Given the description of an element on the screen output the (x, y) to click on. 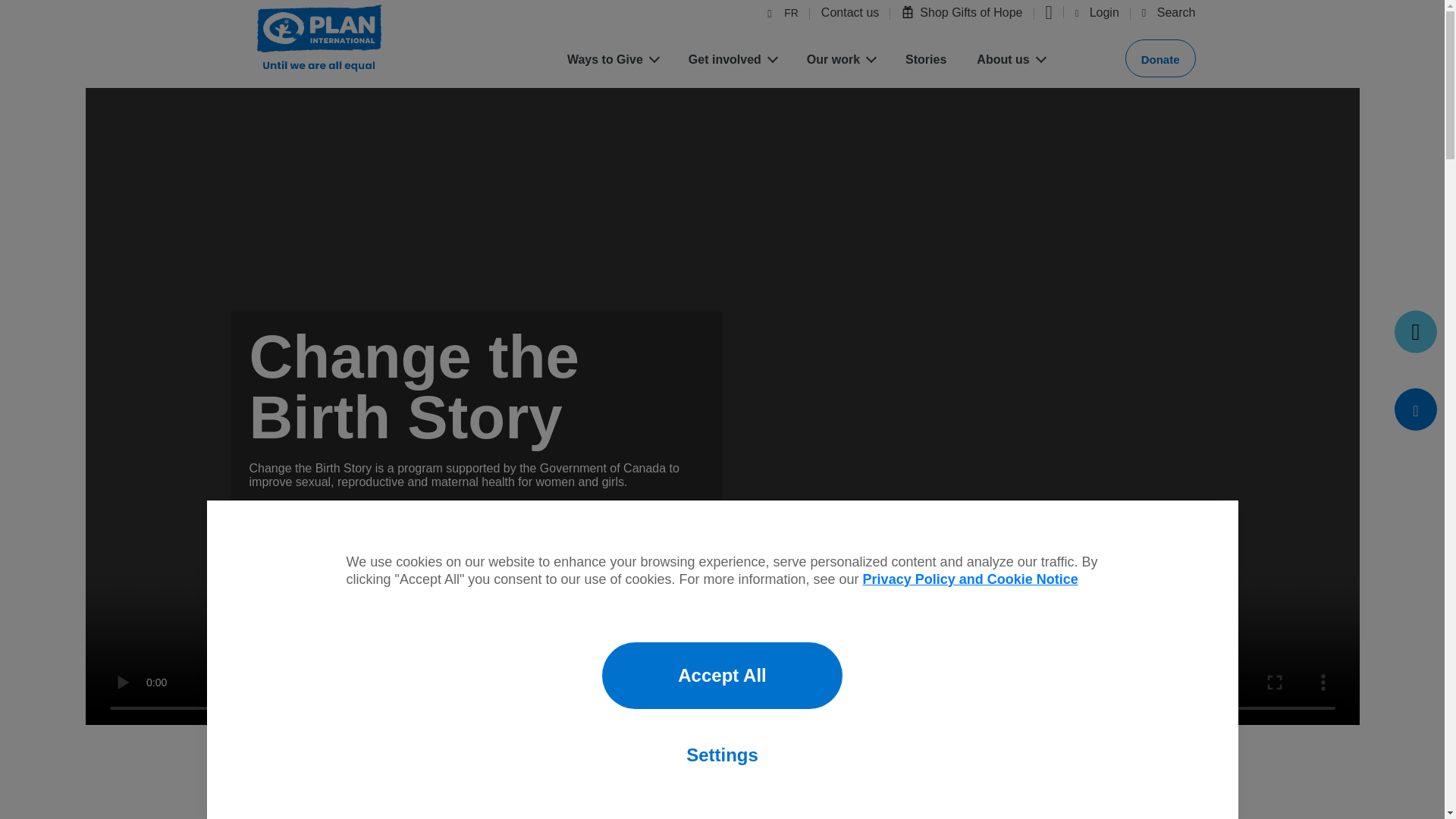
Ways to Give (612, 60)
Get involved (732, 60)
Contact us (850, 15)
Shop Gifts of Hope (961, 13)
Our work (840, 60)
